Given the description of an element on the screen output the (x, y) to click on. 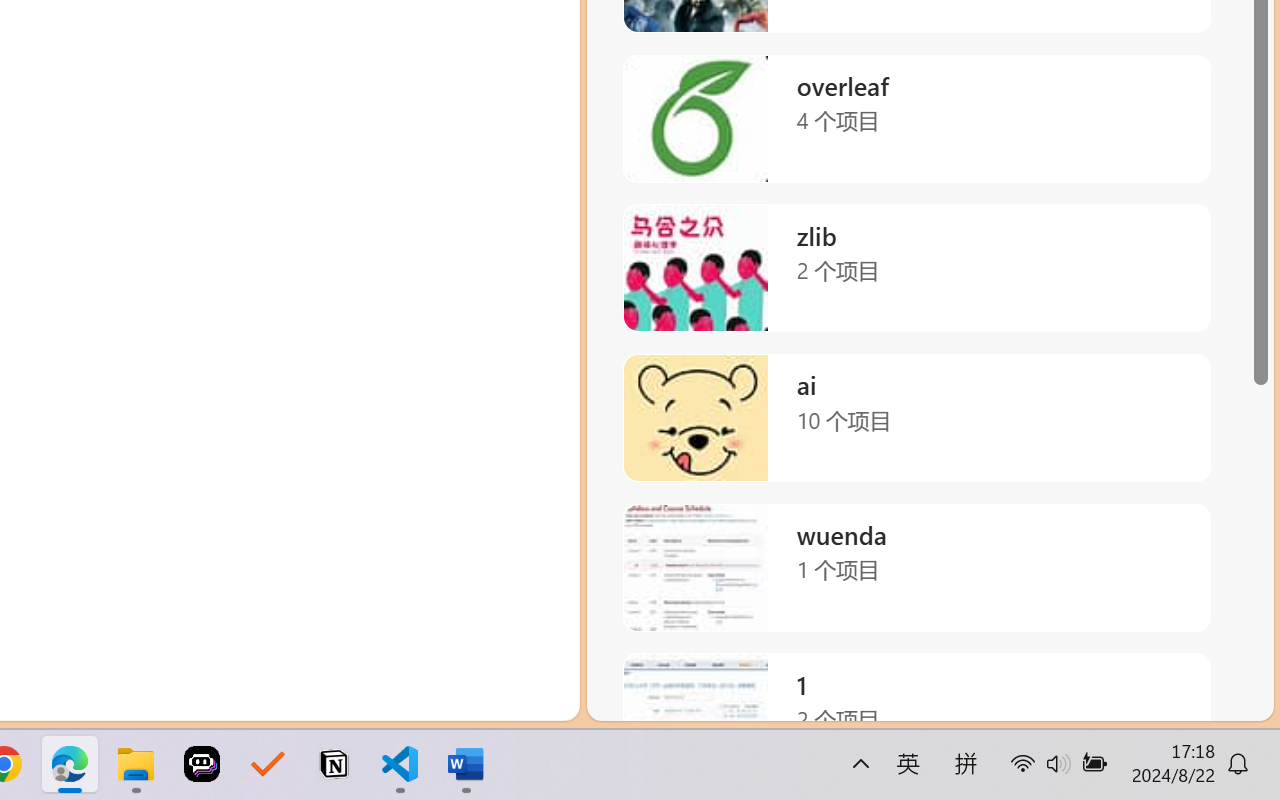
Launch Profile... (1096, 243)
